Given the description of an element on the screen output the (x, y) to click on. 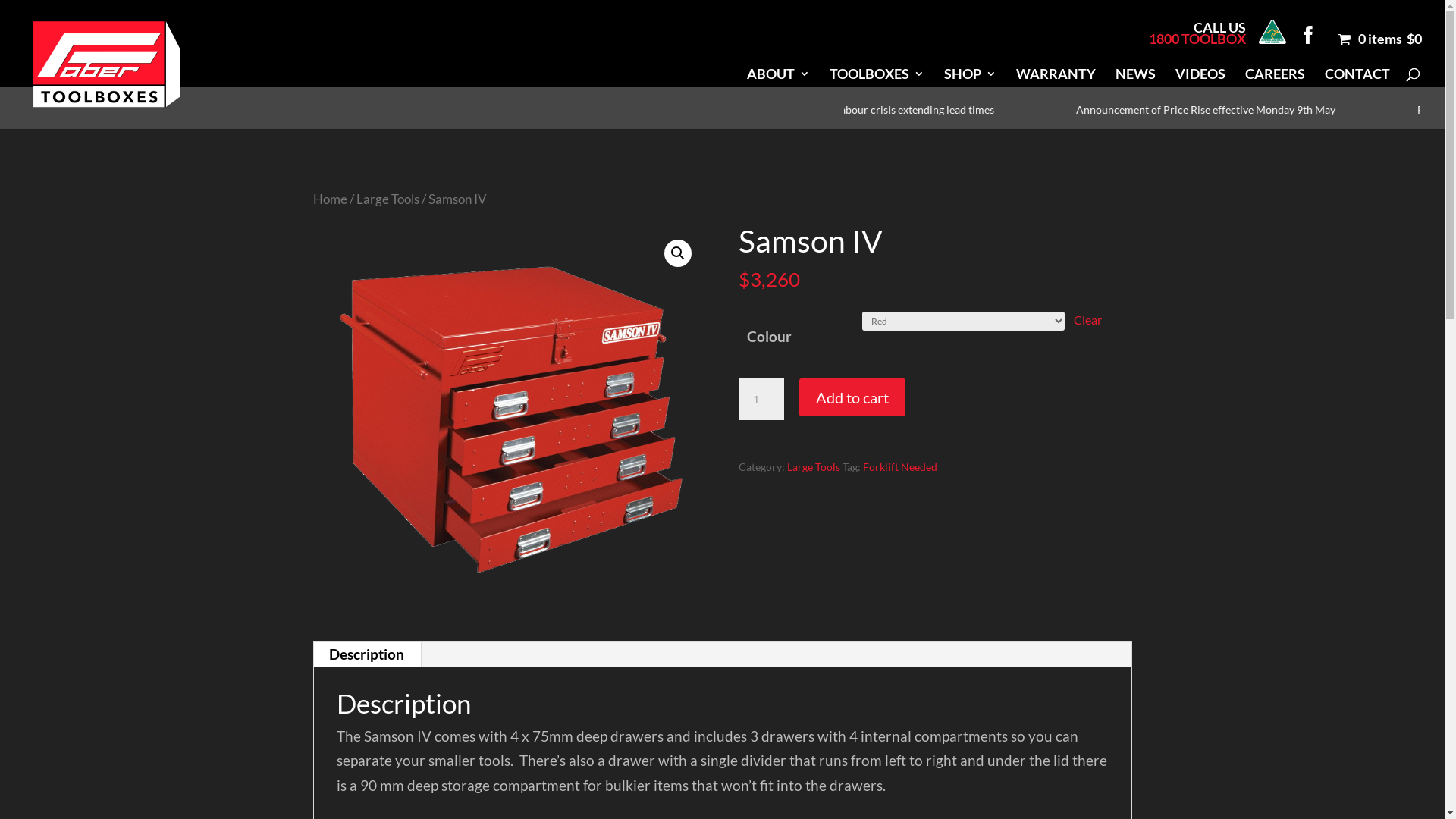
SHOP Element type: text (970, 79)
Description Element type: text (366, 654)
CONTACT Element type: text (1357, 79)
Announcement of Price Rise effective Monday 9th May Element type: text (1269, 109)
ABOUT Element type: text (777, 79)
TOOLBOXES Element type: text (876, 79)
NEWS Element type: text (1135, 79)
Clear Element type: text (1087, 319)
Add to cart Element type: text (852, 397)
0 items  $0 Element type: text (1375, 43)
Forklift Needed Element type: text (899, 466)
WARRANTY Element type: text (1055, 79)
VIDEOS Element type: text (1200, 79)
Large Tools Element type: text (387, 199)
CAREERS Element type: text (1275, 79)
SamsonIV_cart Element type: hover (508, 421)
Home Element type: text (329, 199)
CALL US
1800 TOOLBOX Element type: text (1196, 37)
Skilled labour crisis extending lead times Element type: text (964, 109)
Large Tools Element type: text (813, 466)
